Given the description of an element on the screen output the (x, y) to click on. 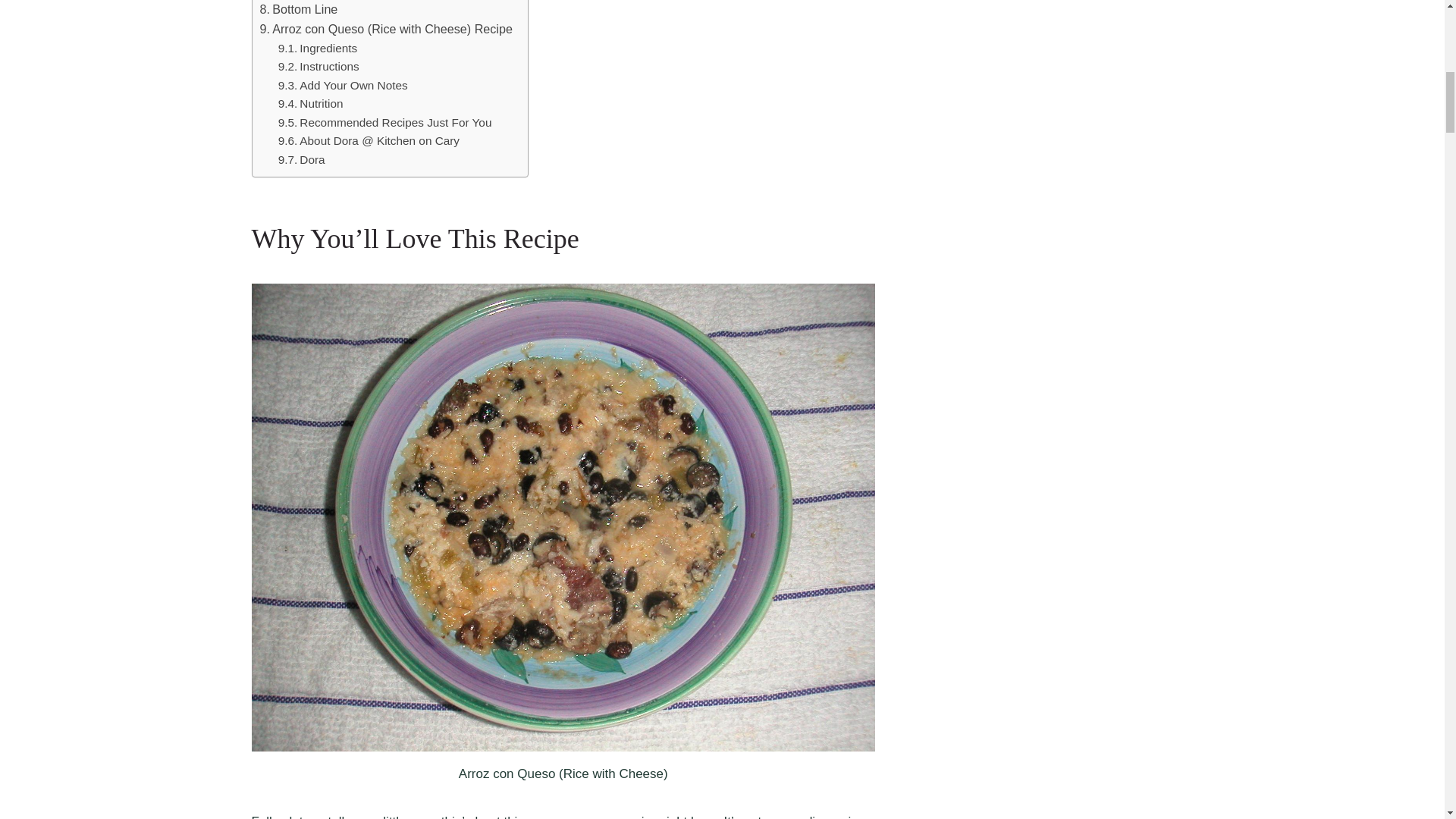
Dora (301, 159)
Instructions  (320, 66)
Nutrition (310, 104)
Nutrition (310, 104)
Bottom Line (298, 9)
Recommended Recipes Just For You (385, 122)
Recommended Recipes Just For You (385, 122)
Add Your Own Notes (342, 85)
Add Your Own Notes (342, 85)
Bottom Line (298, 9)
Ingredients   (321, 48)
